Given the description of an element on the screen output the (x, y) to click on. 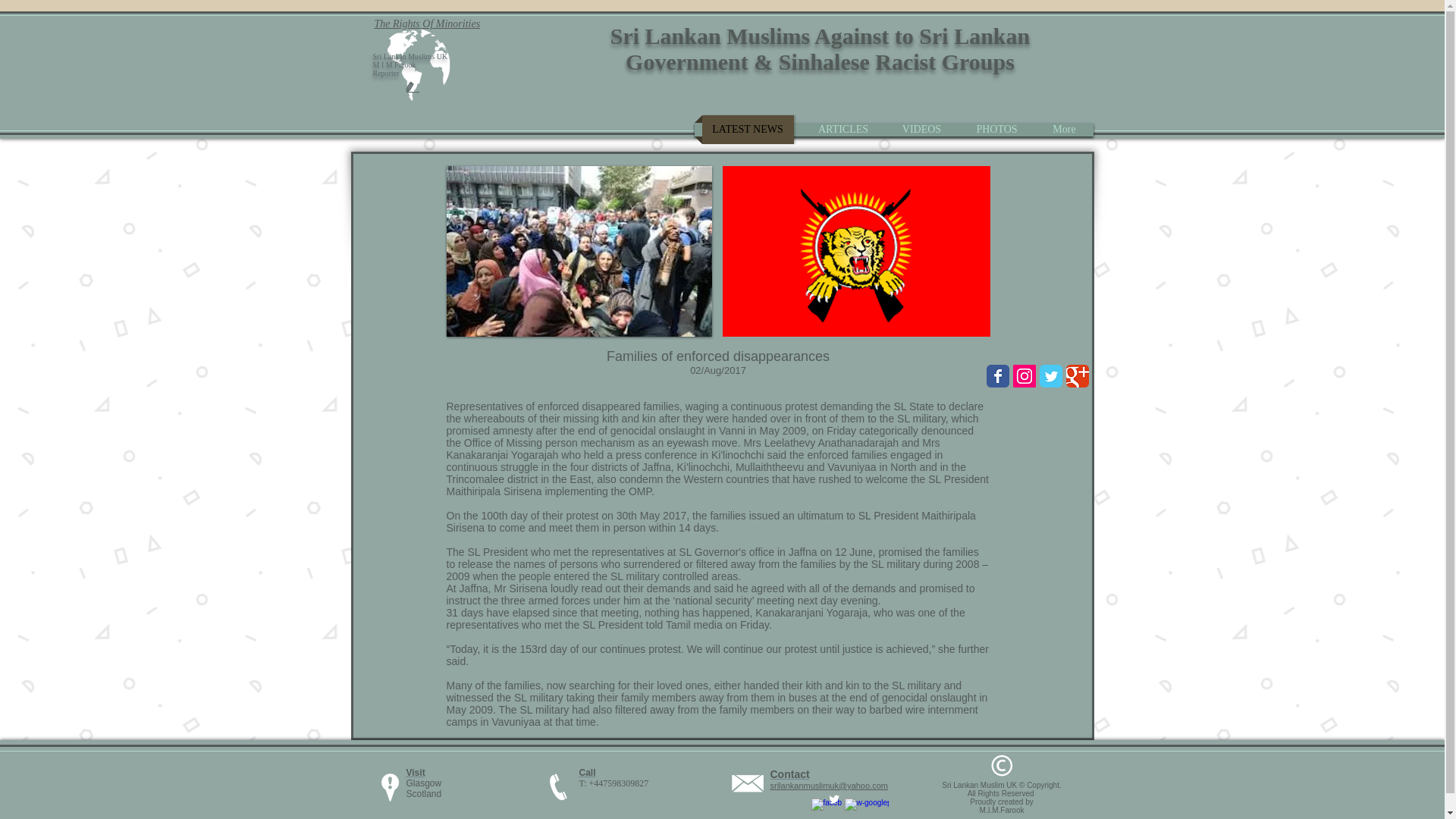
LATEST NEWS (748, 129)
download.jpg (578, 251)
